Given the description of an element on the screen output the (x, y) to click on. 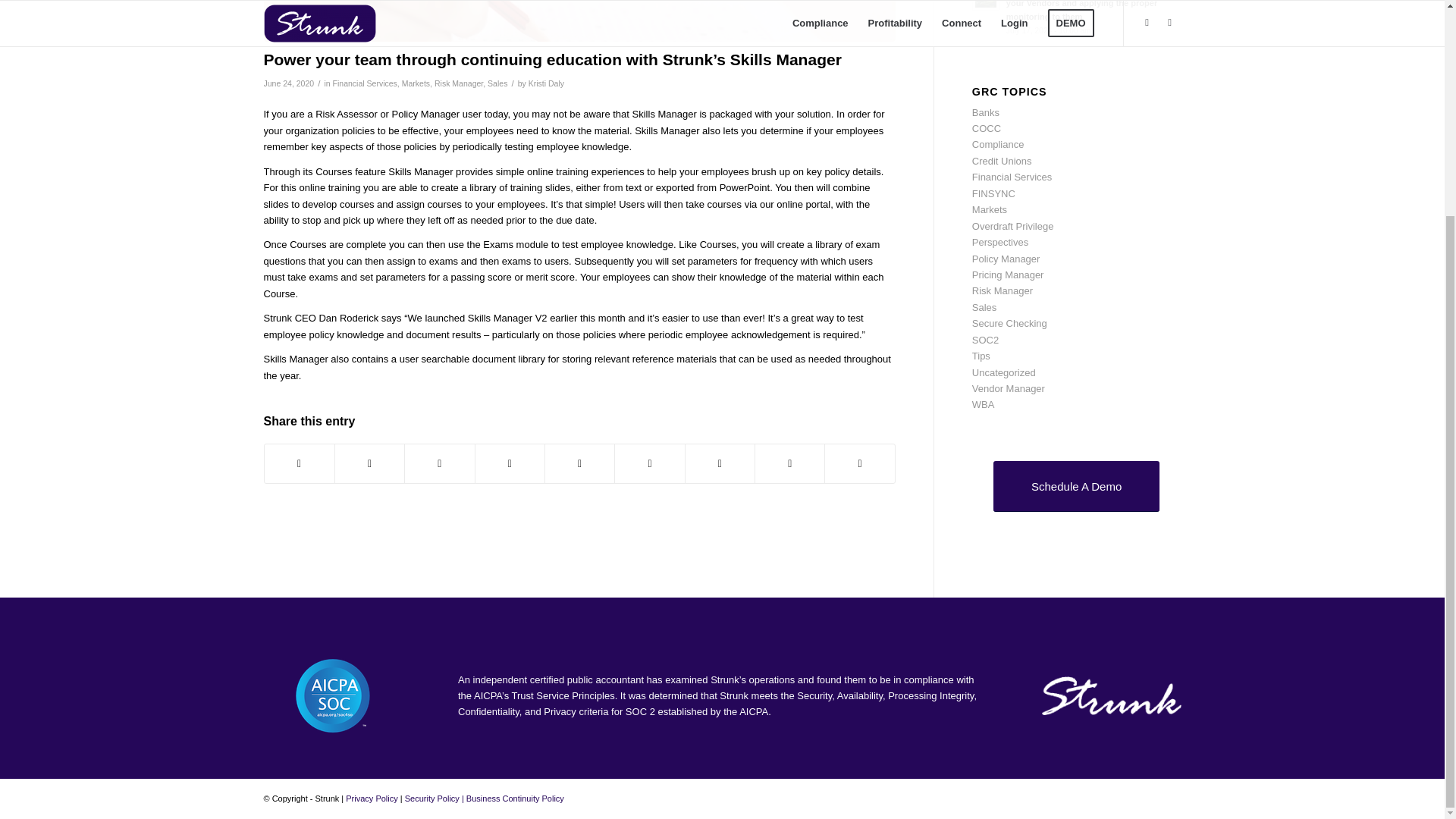
Compliance (998, 143)
Banks (985, 112)
Kristi Daly (546, 82)
Financial Services (365, 82)
Risk Manager (458, 82)
Markets (415, 82)
Posts by Kristi Daly (546, 82)
COCC (986, 128)
Sales (496, 82)
